Given the description of an element on the screen output the (x, y) to click on. 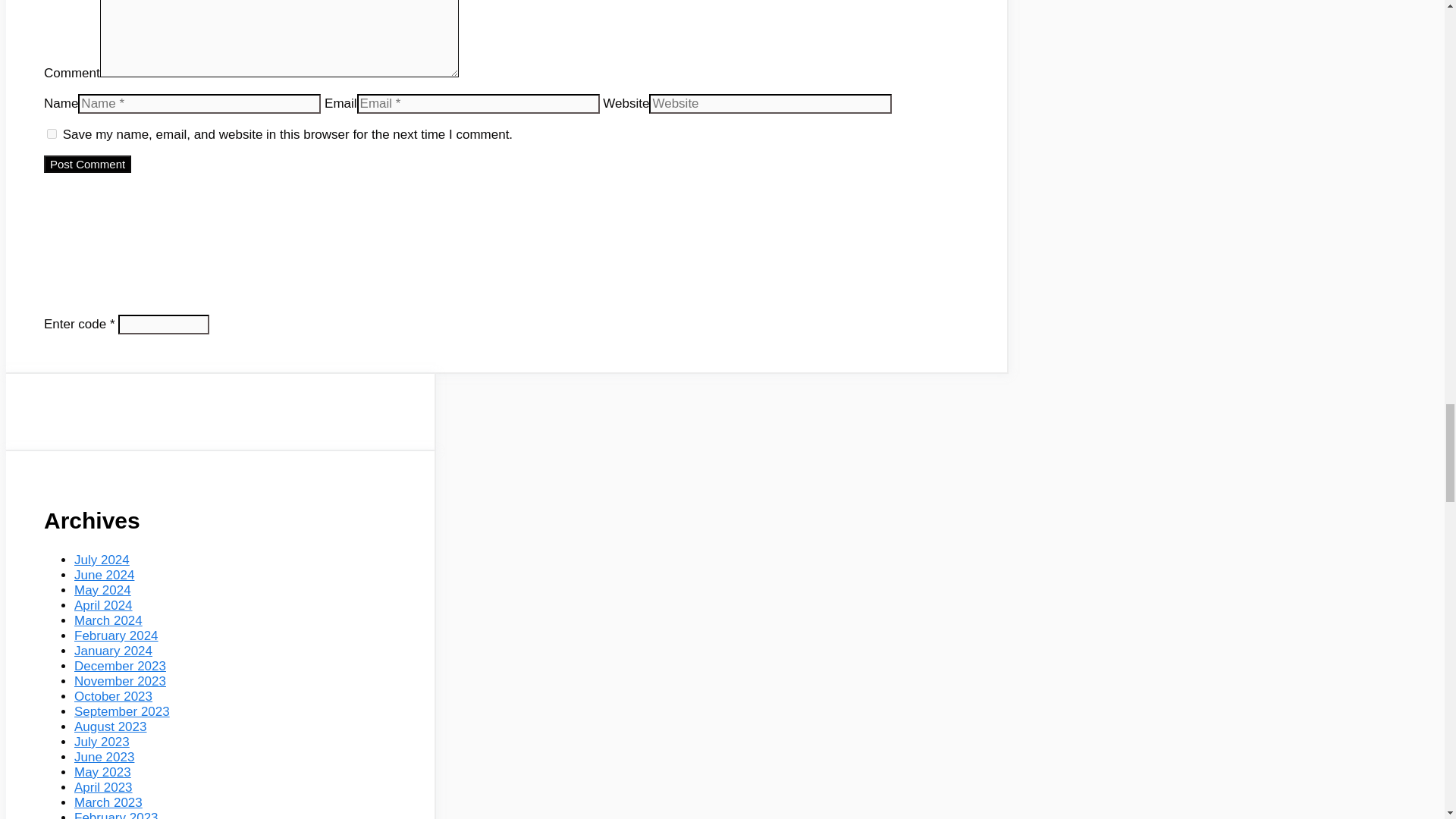
Post Comment (87, 163)
yes (51, 133)
Refresh Image (290, 212)
